Given the description of an element on the screen output the (x, y) to click on. 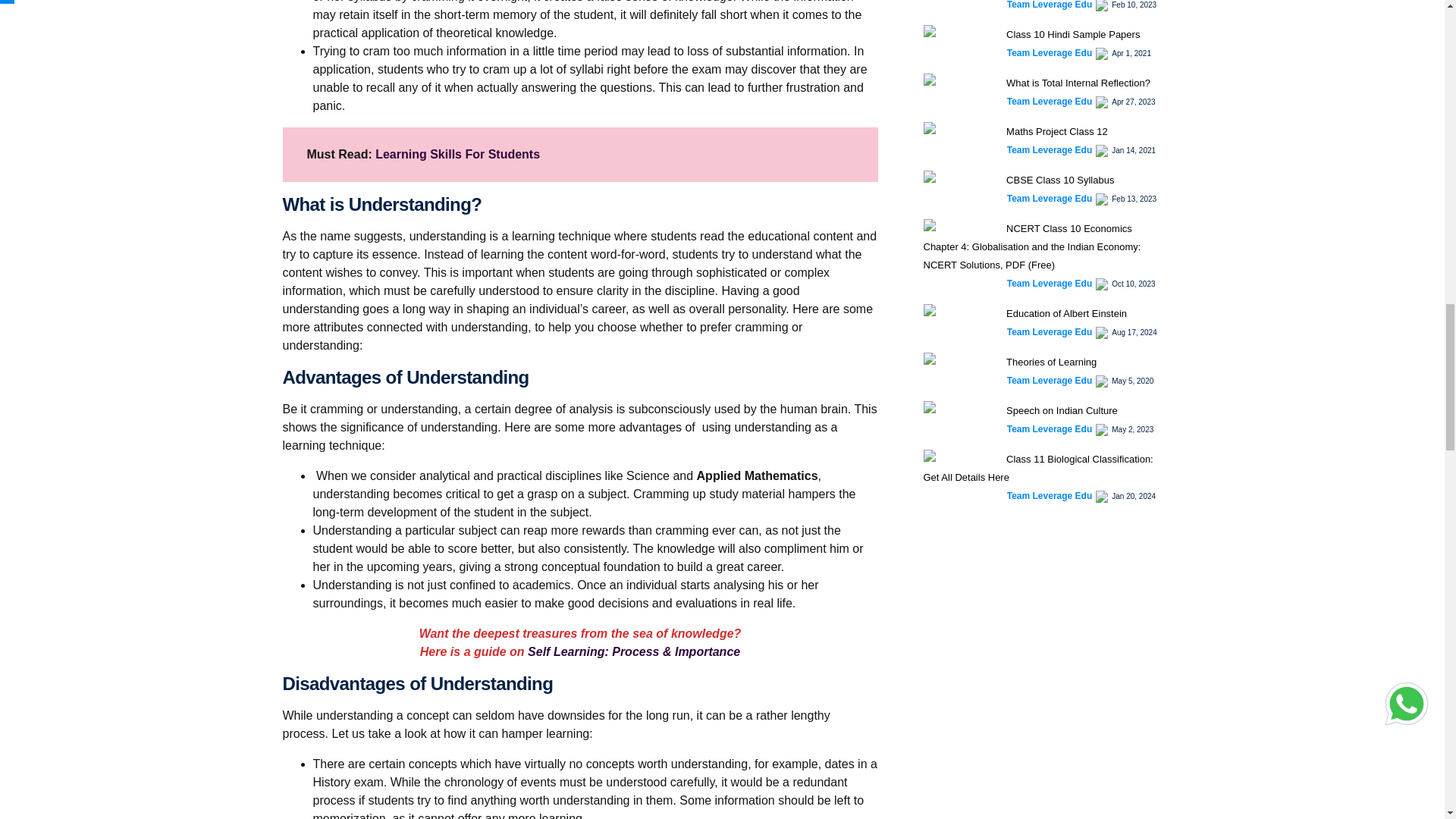
View all posts by Team Leverage Edu (1050, 332)
View all posts by Team Leverage Edu (1050, 101)
View all posts by Team Leverage Edu (1050, 52)
View all posts by Team Leverage Edu (1050, 428)
View all posts by Team Leverage Edu (1050, 150)
View all posts by Team Leverage Edu (1050, 5)
View all posts by Team Leverage Edu (1050, 283)
View all posts by Team Leverage Edu (1050, 198)
View all posts by Team Leverage Edu (1050, 380)
